Given the description of an element on the screen output the (x, y) to click on. 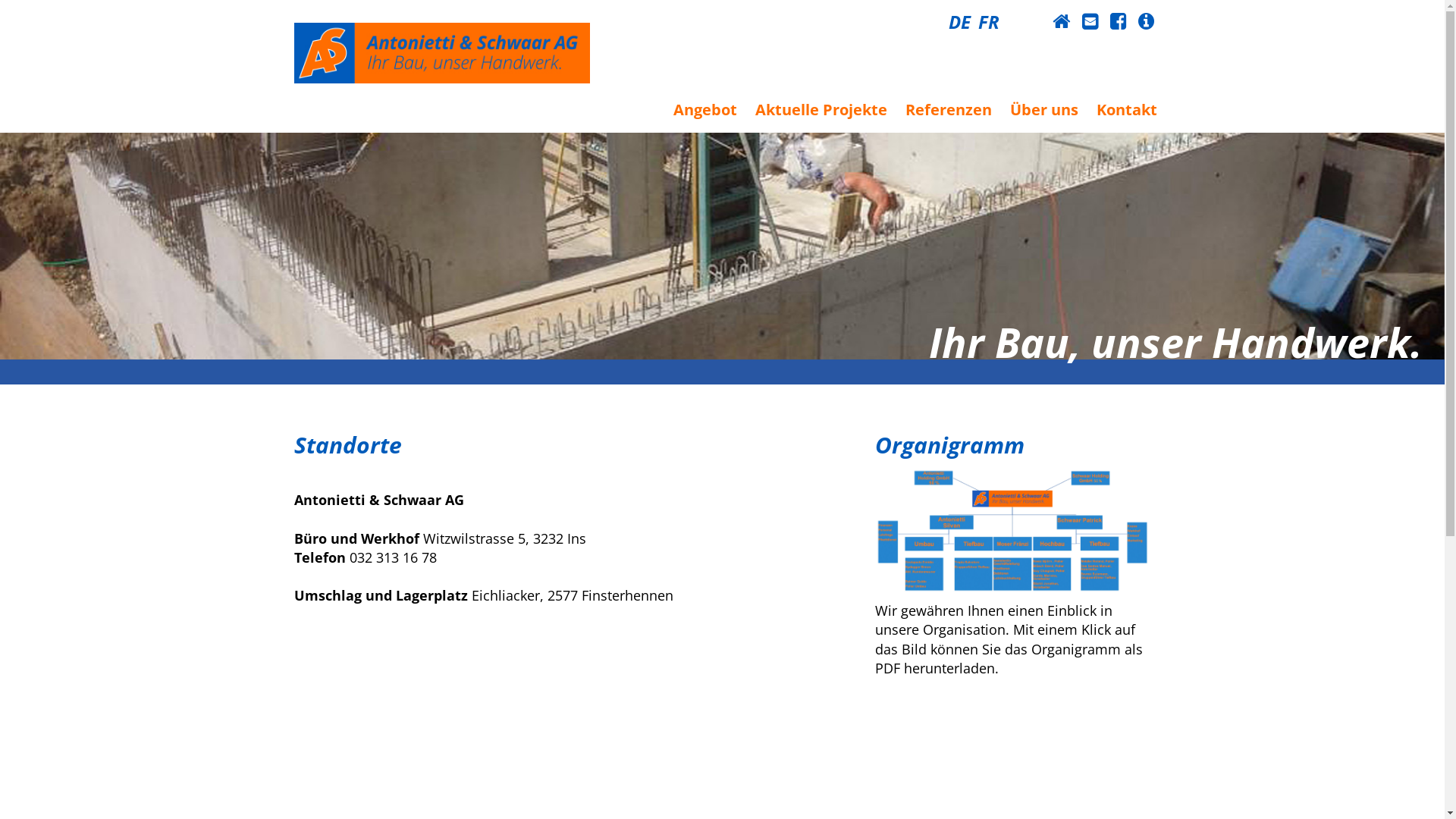
Impressum Element type: hover (1145, 20)
FR Element type: text (988, 21)
Referenzen Element type: text (948, 109)
Angebot Element type: text (705, 109)
Facebook Element type: hover (1118, 20)
Kontakt Element type: hover (1089, 20)
DE Element type: text (958, 21)
Home Element type: hover (1061, 20)
Kontakt Element type: text (1126, 109)
Aktuelle Projekte Element type: text (821, 109)
